Given the description of an element on the screen output the (x, y) to click on. 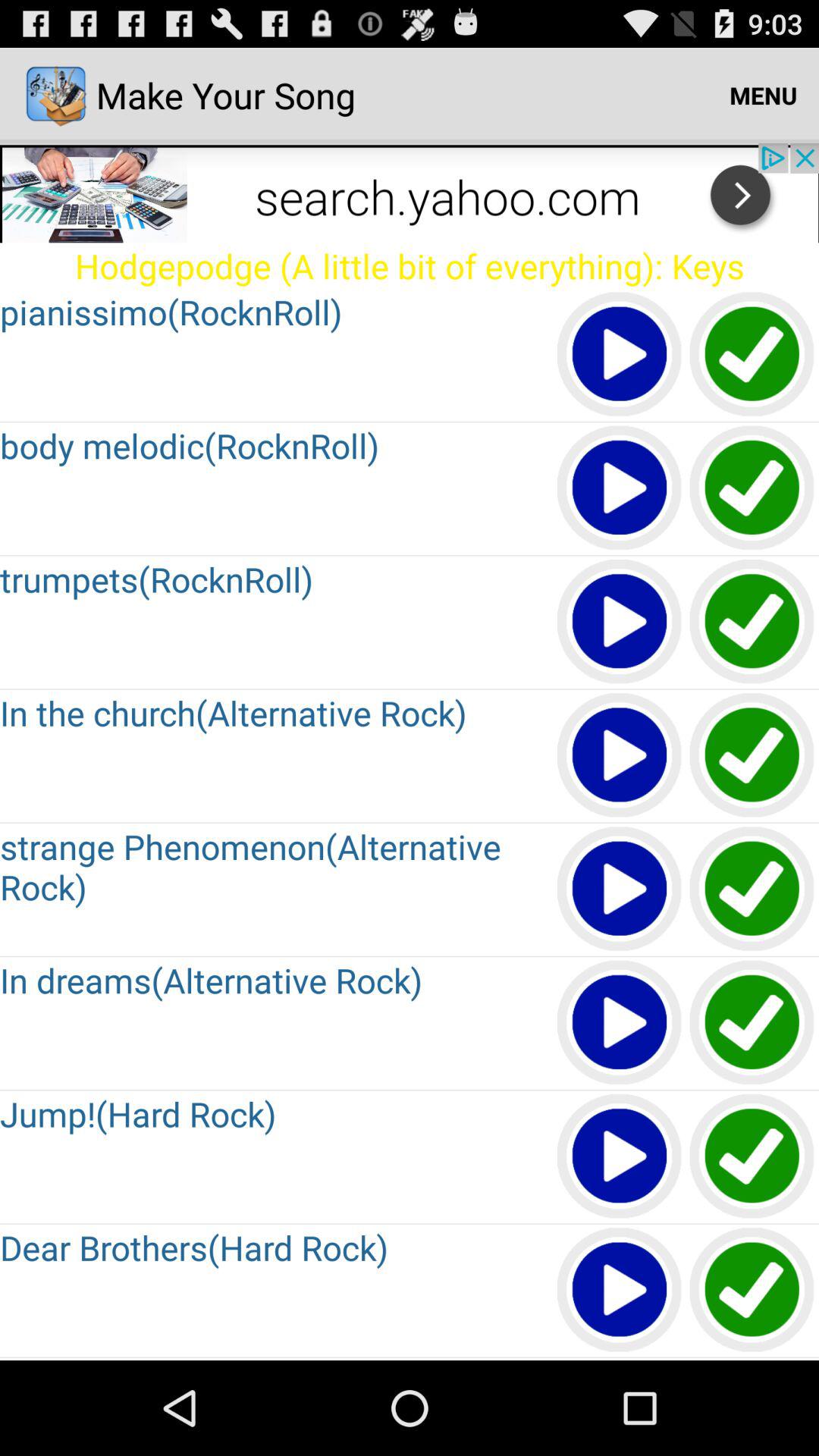
play page (619, 755)
